Given the description of an element on the screen output the (x, y) to click on. 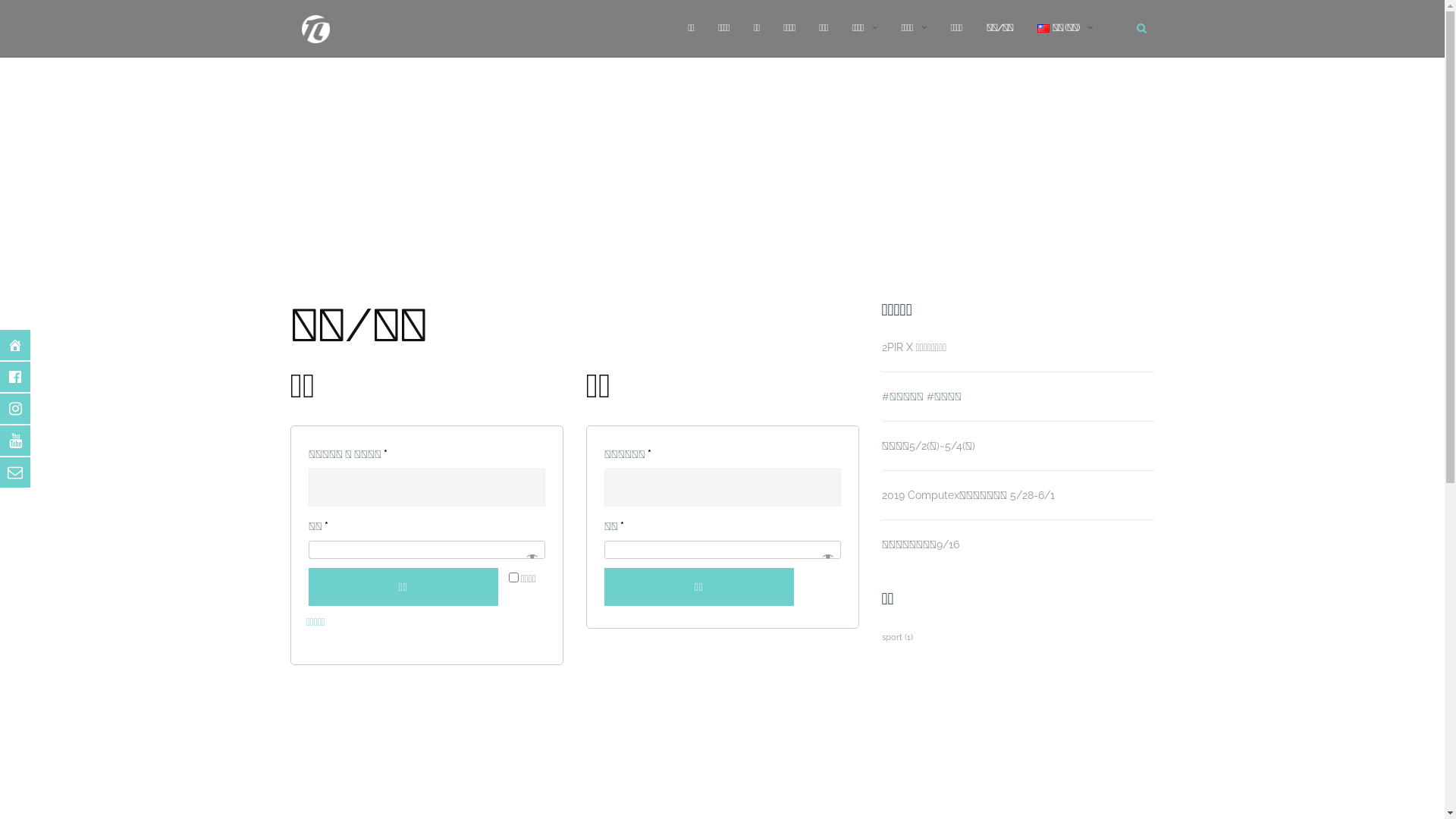
sport (1) Element type: text (896, 636)
